Given the description of an element on the screen output the (x, y) to click on. 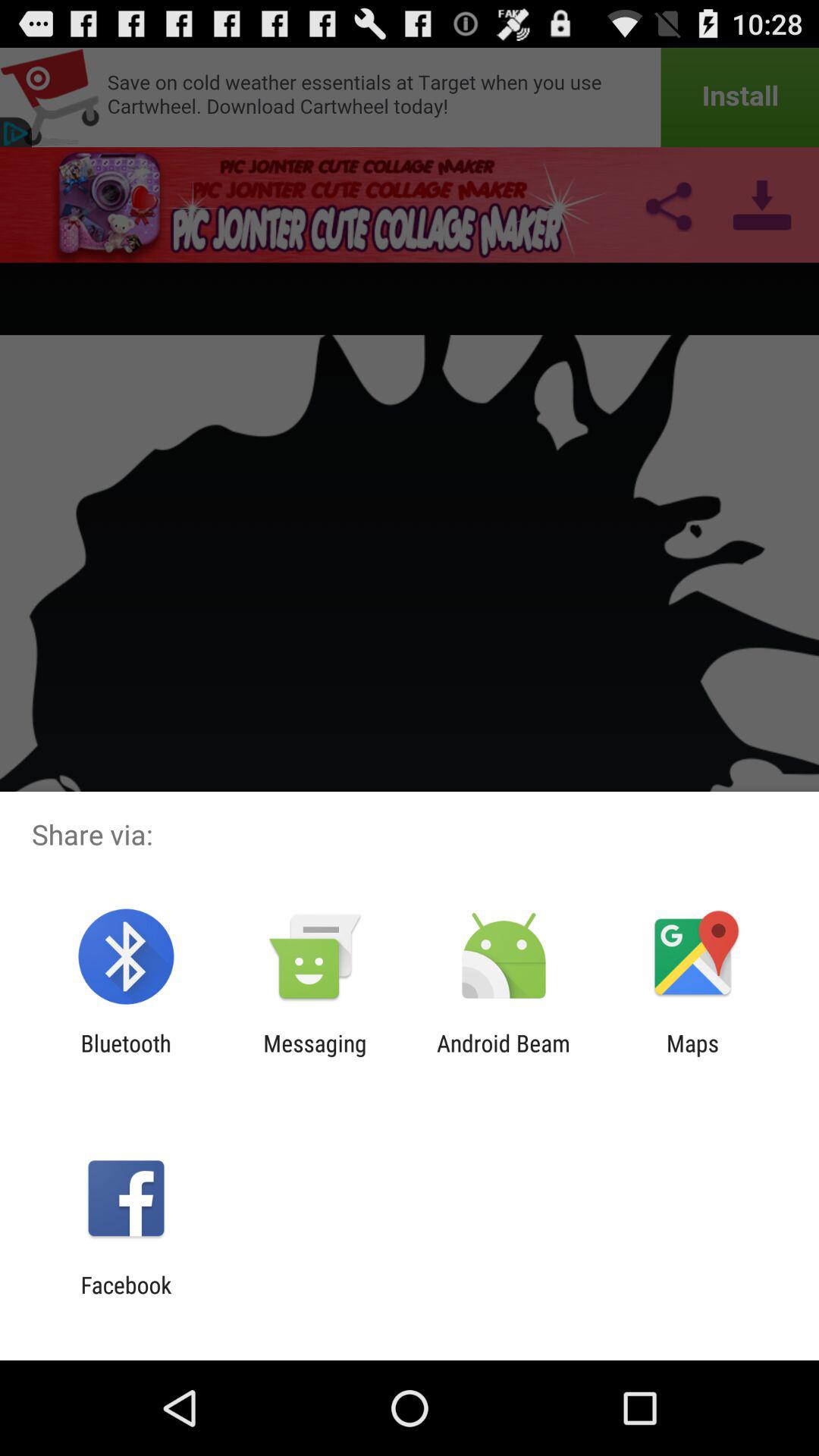
choose app to the right of the messaging icon (503, 1056)
